Given the description of an element on the screen output the (x, y) to click on. 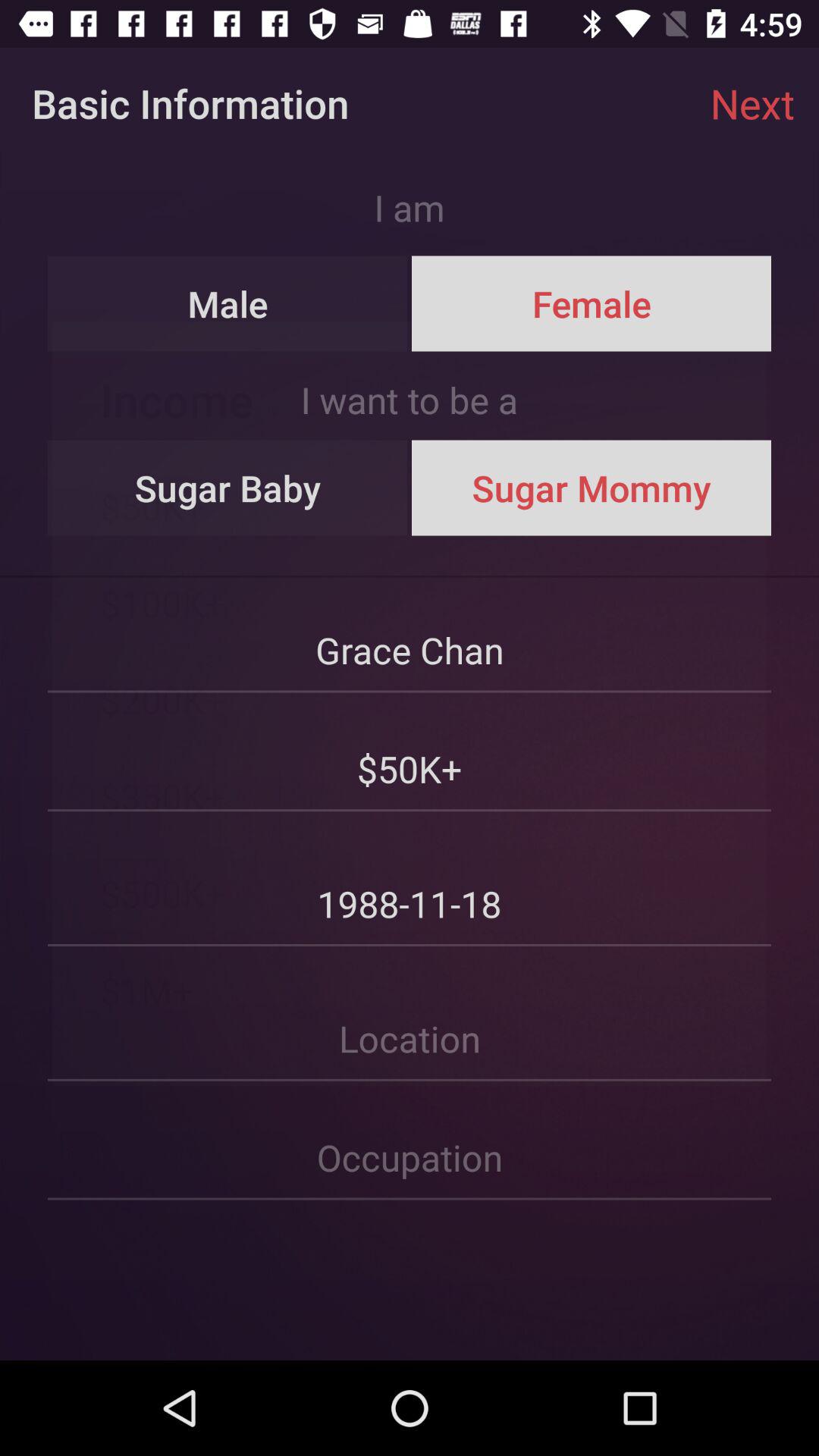
swipe to $50k+ icon (409, 752)
